Given the description of an element on the screen output the (x, y) to click on. 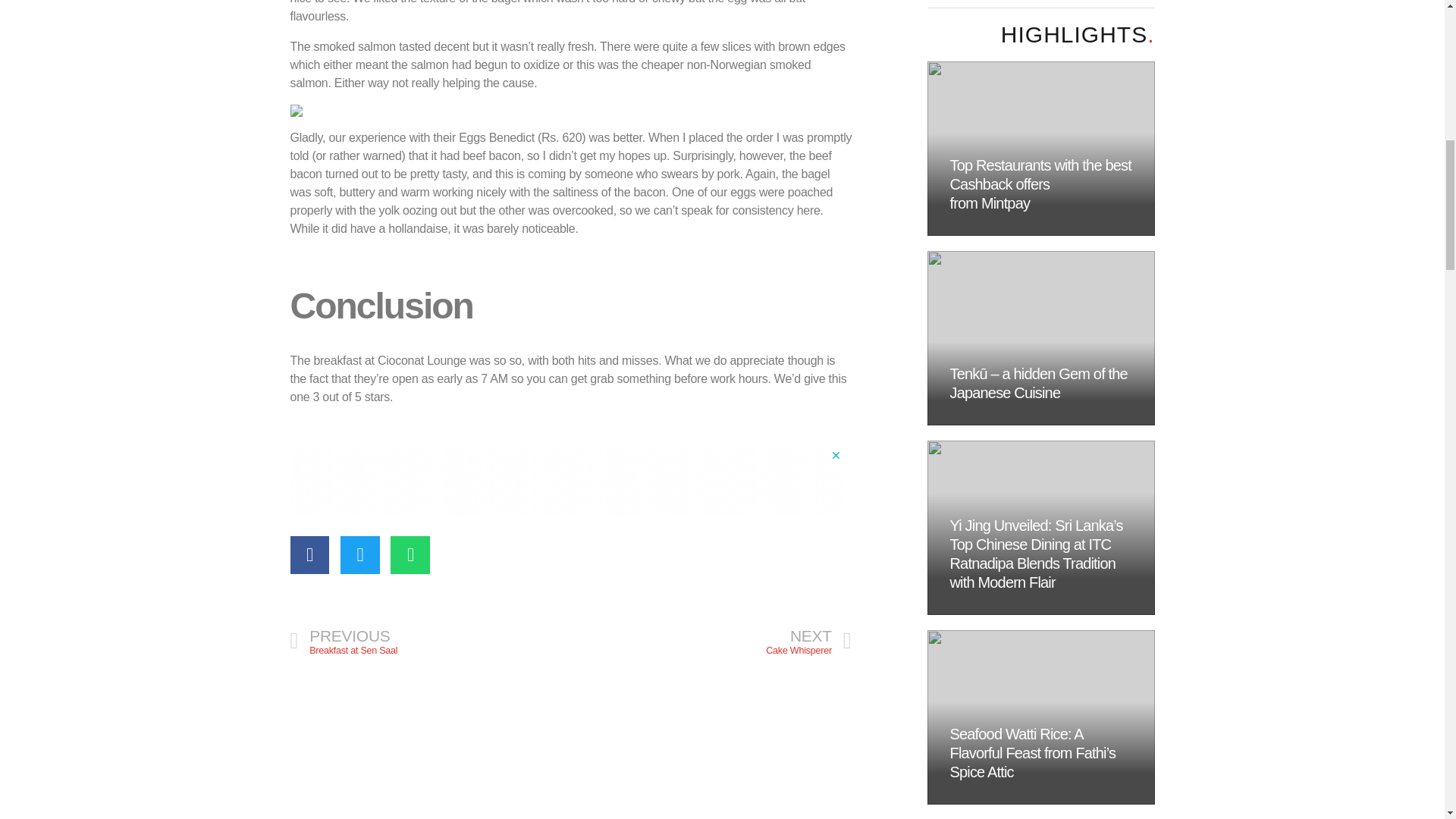
3rd party ad content (429, 640)
Top Restaurants with the best Cashback offers from Mintpay (565, 482)
